Given the description of an element on the screen output the (x, y) to click on. 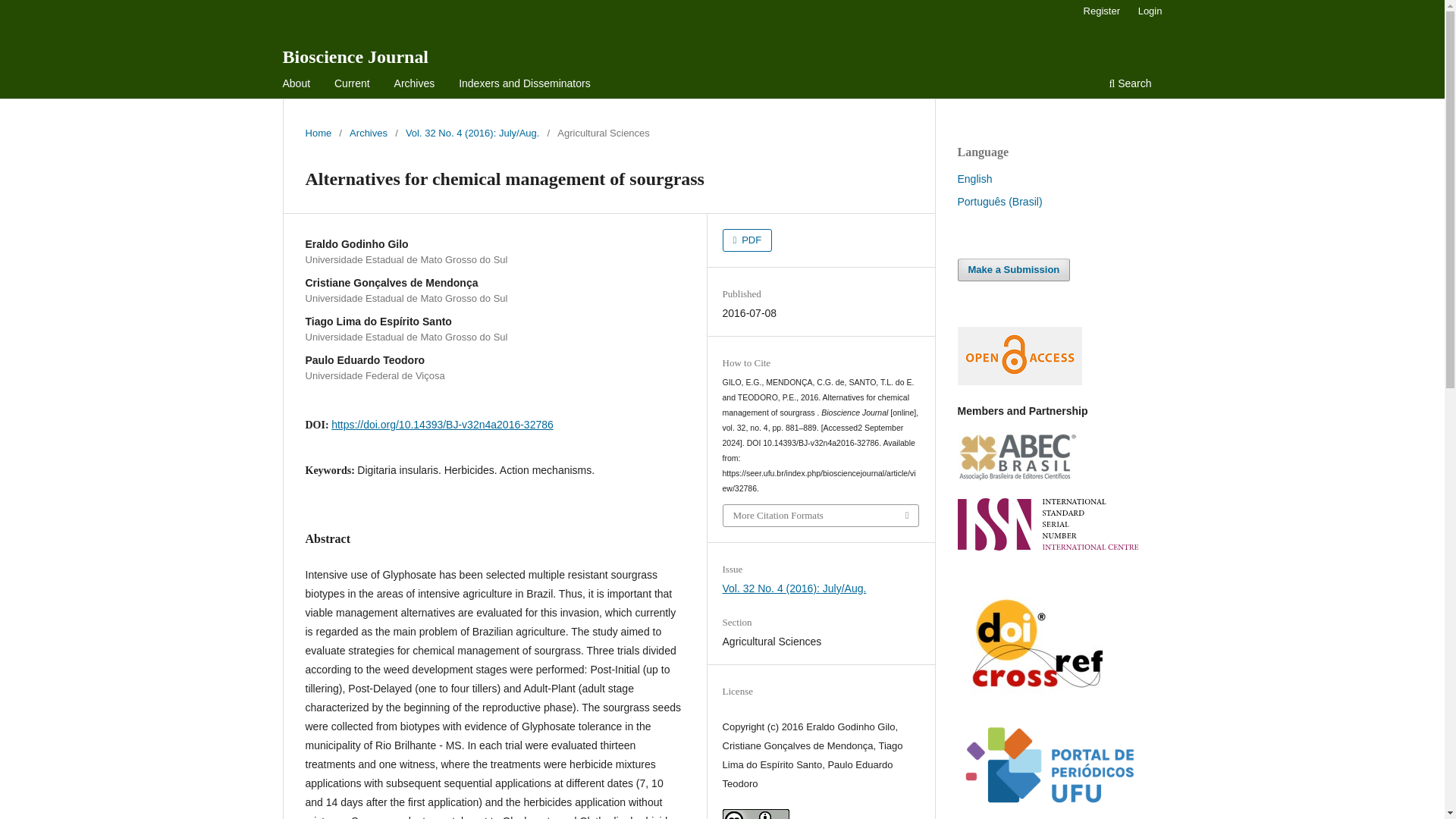
Search (1129, 85)
Indexers and Disseminators (523, 85)
More Citation Formats (820, 515)
Current (352, 85)
Archives (368, 133)
PPUFU (1047, 814)
About (296, 85)
ISSN (1047, 546)
Home (317, 133)
Register (1100, 11)
